Given the description of an element on the screen output the (x, y) to click on. 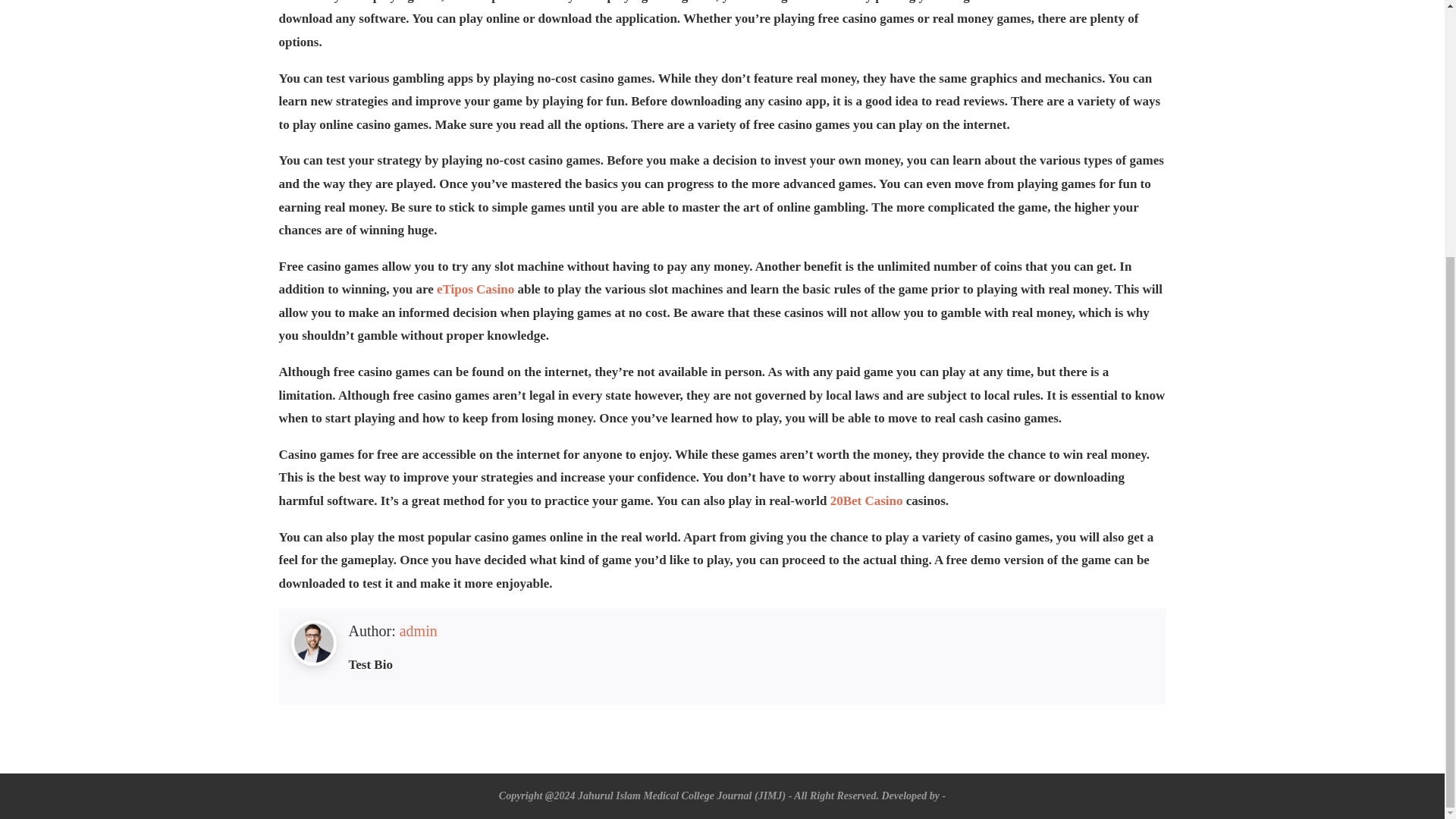
admin (418, 630)
20Bet Casino (865, 500)
eTipos Casino (474, 288)
